Given the description of an element on the screen output the (x, y) to click on. 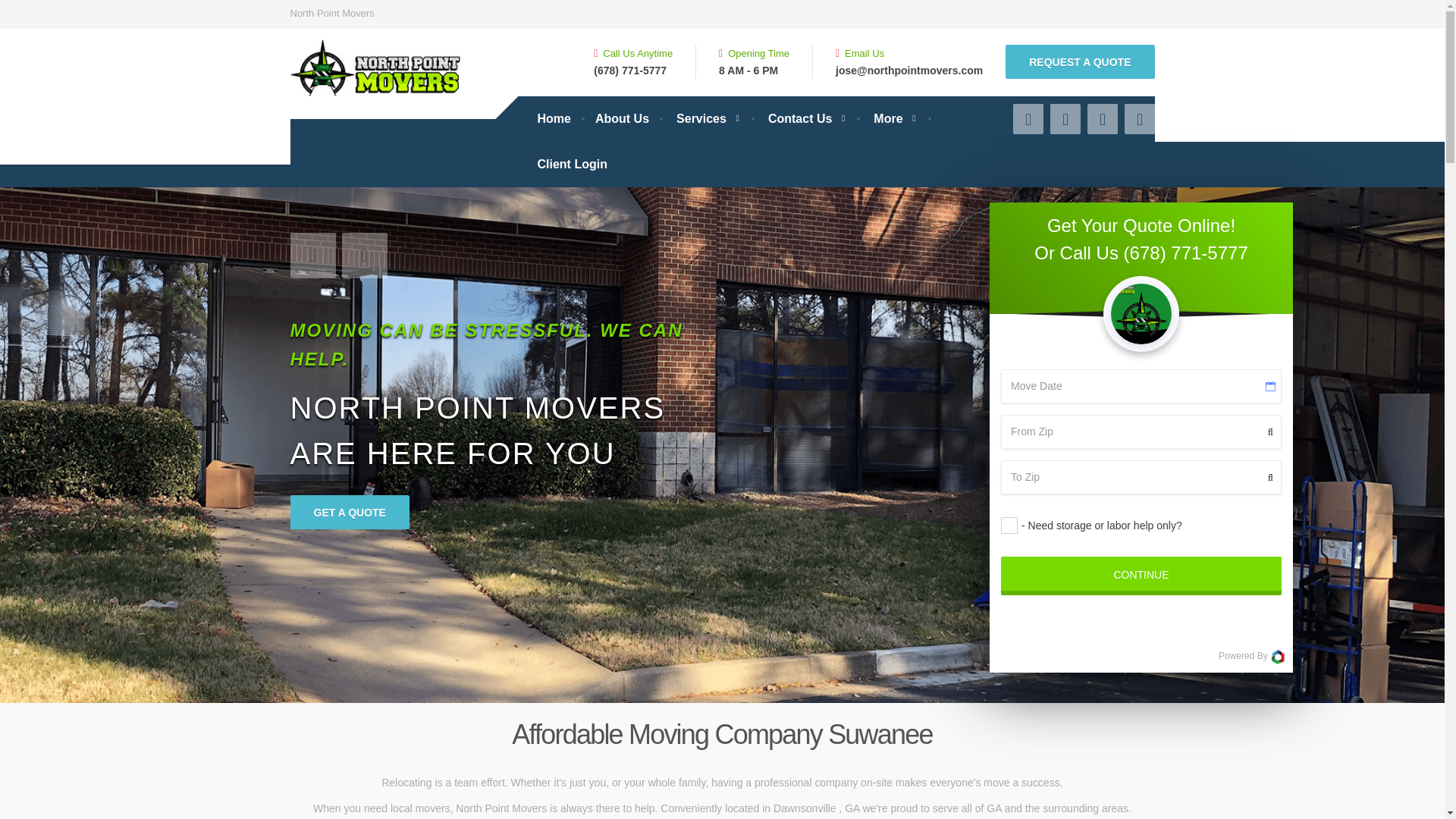
Client Login (571, 164)
Powered By (1251, 656)
More (893, 118)
GET A QUOTE (349, 512)
Contact Us (805, 118)
Home (553, 118)
About Us (622, 118)
REQUEST A QUOTE (1080, 61)
Services (706, 118)
